Given the description of an element on the screen output the (x, y) to click on. 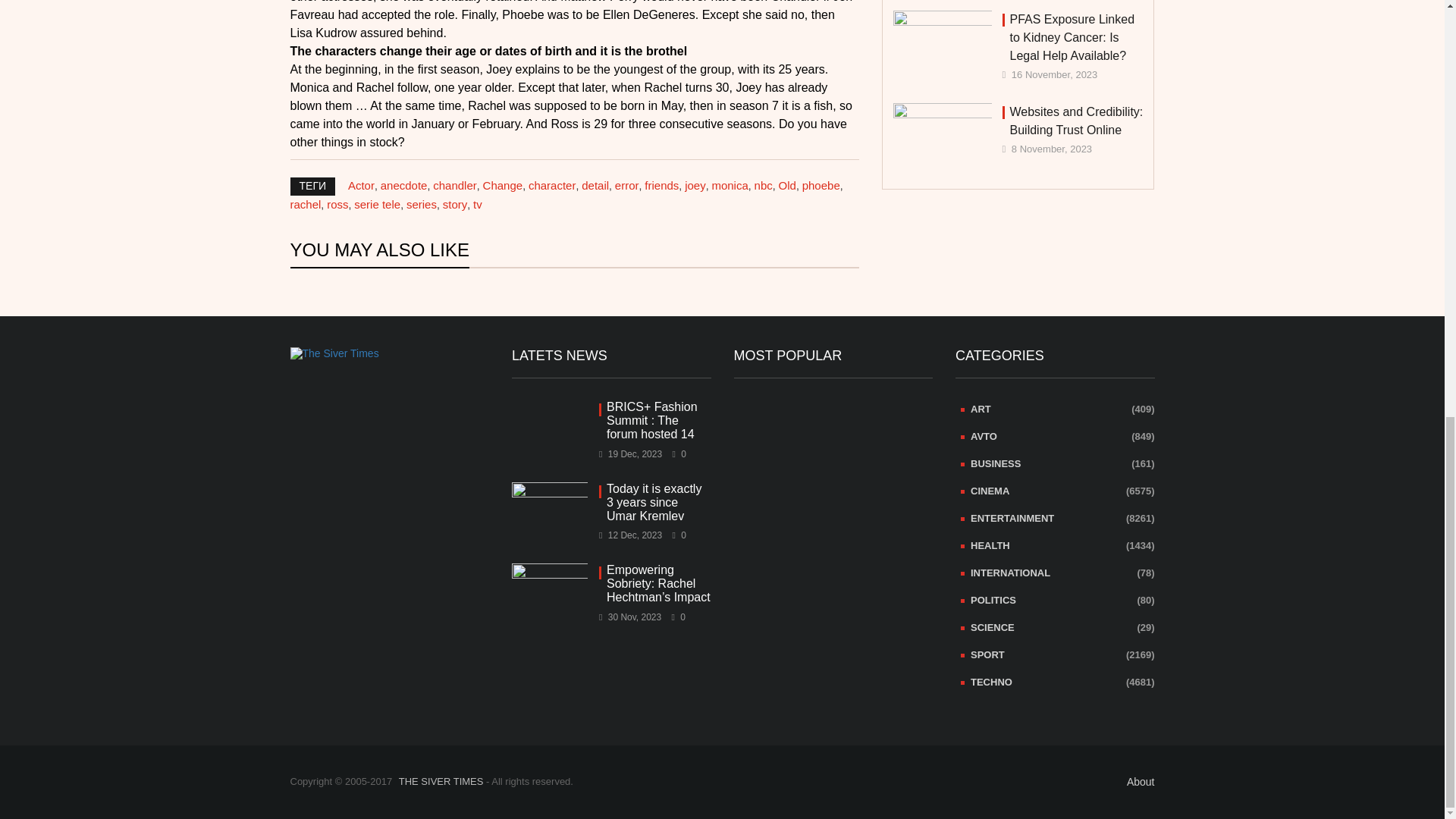
detail (594, 185)
Change (502, 185)
nbc (763, 185)
series (421, 204)
Old (787, 185)
phoebe (821, 185)
anecdote (404, 185)
ross (336, 204)
error (626, 185)
story (454, 204)
